Given the description of an element on the screen output the (x, y) to click on. 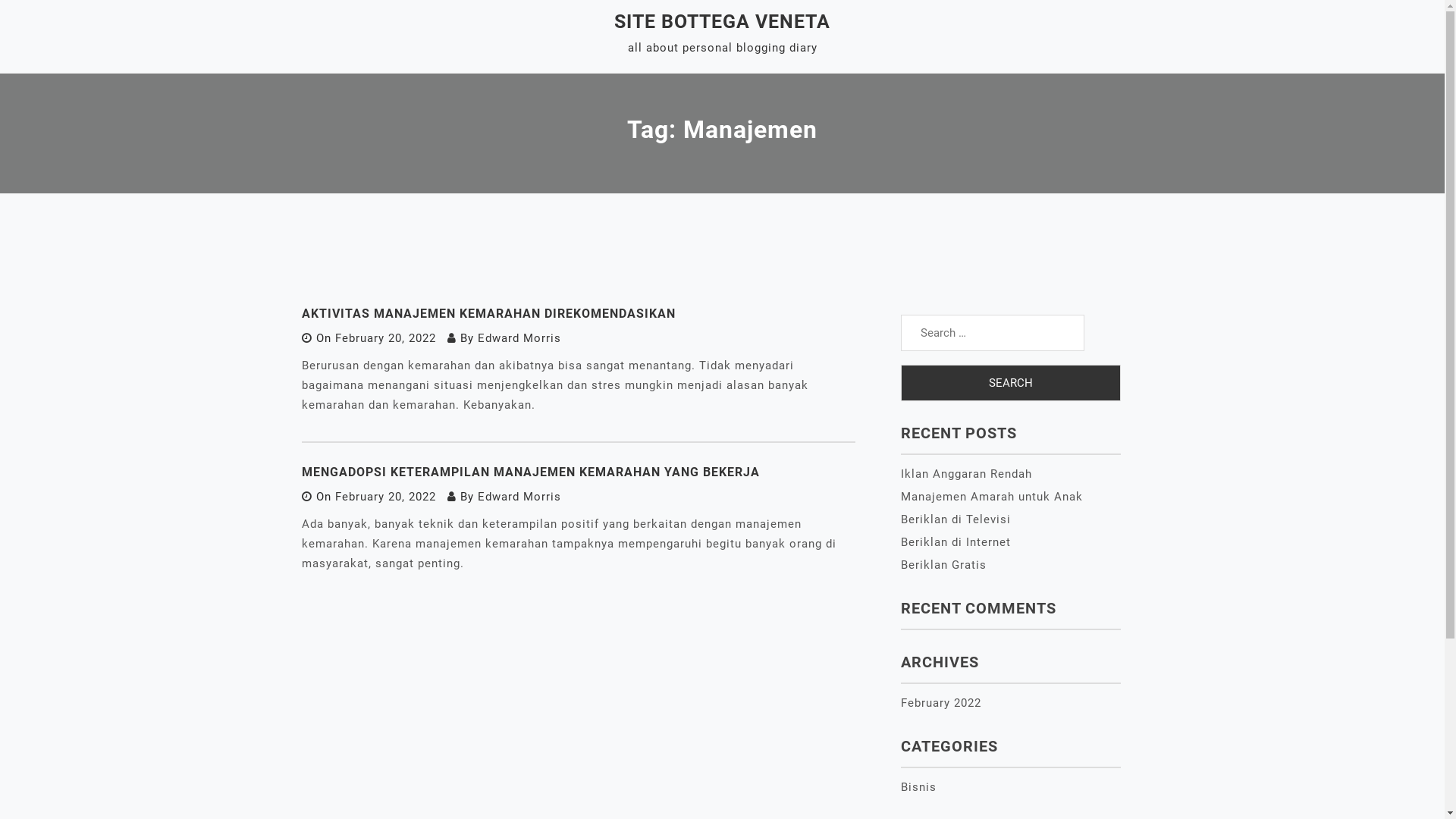
February 20, 2022 Element type: text (385, 496)
Bisnis Element type: text (918, 786)
February 20, 2022 Element type: text (385, 338)
Manajemen Amarah untuk Anak Element type: text (991, 496)
Search Element type: text (1010, 382)
Beriklan di Televisi Element type: text (955, 519)
Edward Morris Element type: text (519, 338)
AKTIVITAS MANAJEMEN KEMARAHAN DIREKOMENDASIKAN Element type: text (488, 313)
February 2022 Element type: text (940, 702)
SITE BOTTEGA VENETA Element type: text (722, 21)
Beriklan Gratis Element type: text (943, 564)
Edward Morris Element type: text (519, 496)
Iklan Anggaran Rendah Element type: text (966, 473)
MENGADOPSI KETERAMPILAN MANAJEMEN KEMARAHAN YANG BEKERJA Element type: text (530, 471)
Beriklan di Internet Element type: text (955, 542)
